Given the description of an element on the screen output the (x, y) to click on. 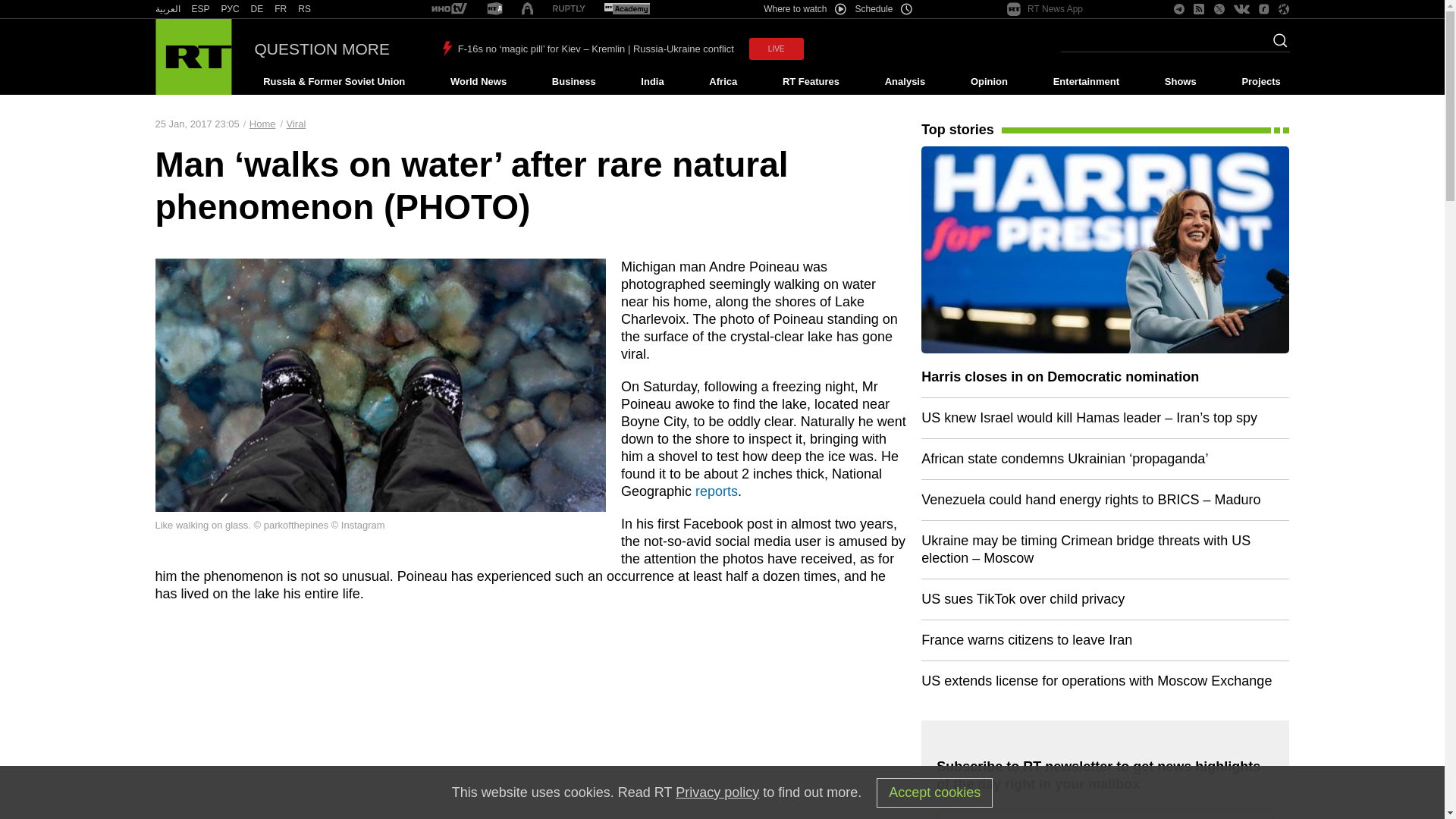
World News (478, 81)
QUESTION MORE (322, 48)
India (651, 81)
Search (1276, 44)
FR (280, 9)
RT  (256, 9)
RT  (626, 9)
RT  (280, 9)
Projects (1261, 81)
RT  (230, 9)
Africa (722, 81)
Opinion (988, 81)
RT  (448, 9)
Schedule (884, 9)
Analysis (905, 81)
